Given the description of an element on the screen output the (x, y) to click on. 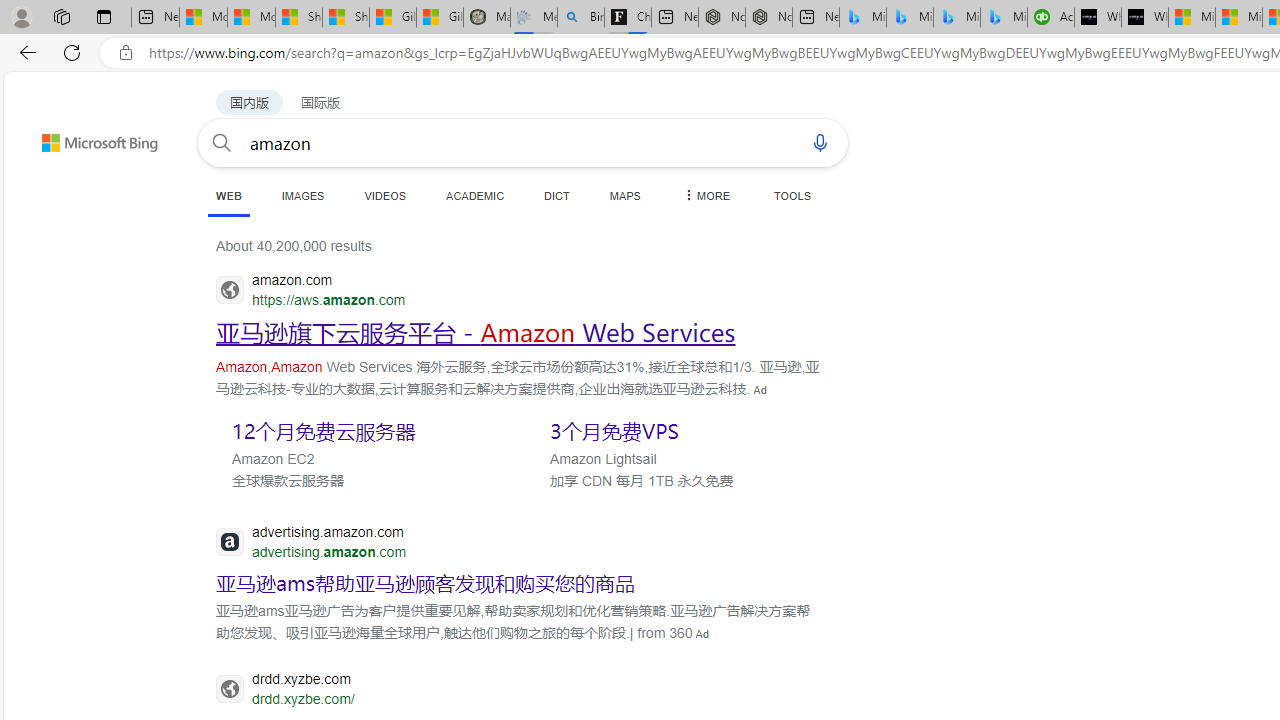
TOOLS (792, 195)
VIDEOS (384, 195)
Microsoft Bing Travel - Stays in Bangkok, Bangkok, Thailand (910, 17)
Search using voice (820, 142)
IMAGES (302, 195)
Accounting Software for Accountants, CPAs and Bookkeepers (1050, 17)
Dropdown Menu (705, 195)
Chloe Sorvino (628, 17)
What's the best AI voice generator? - voice.ai (1145, 17)
IMAGES (302, 195)
